Given the description of an element on the screen output the (x, y) to click on. 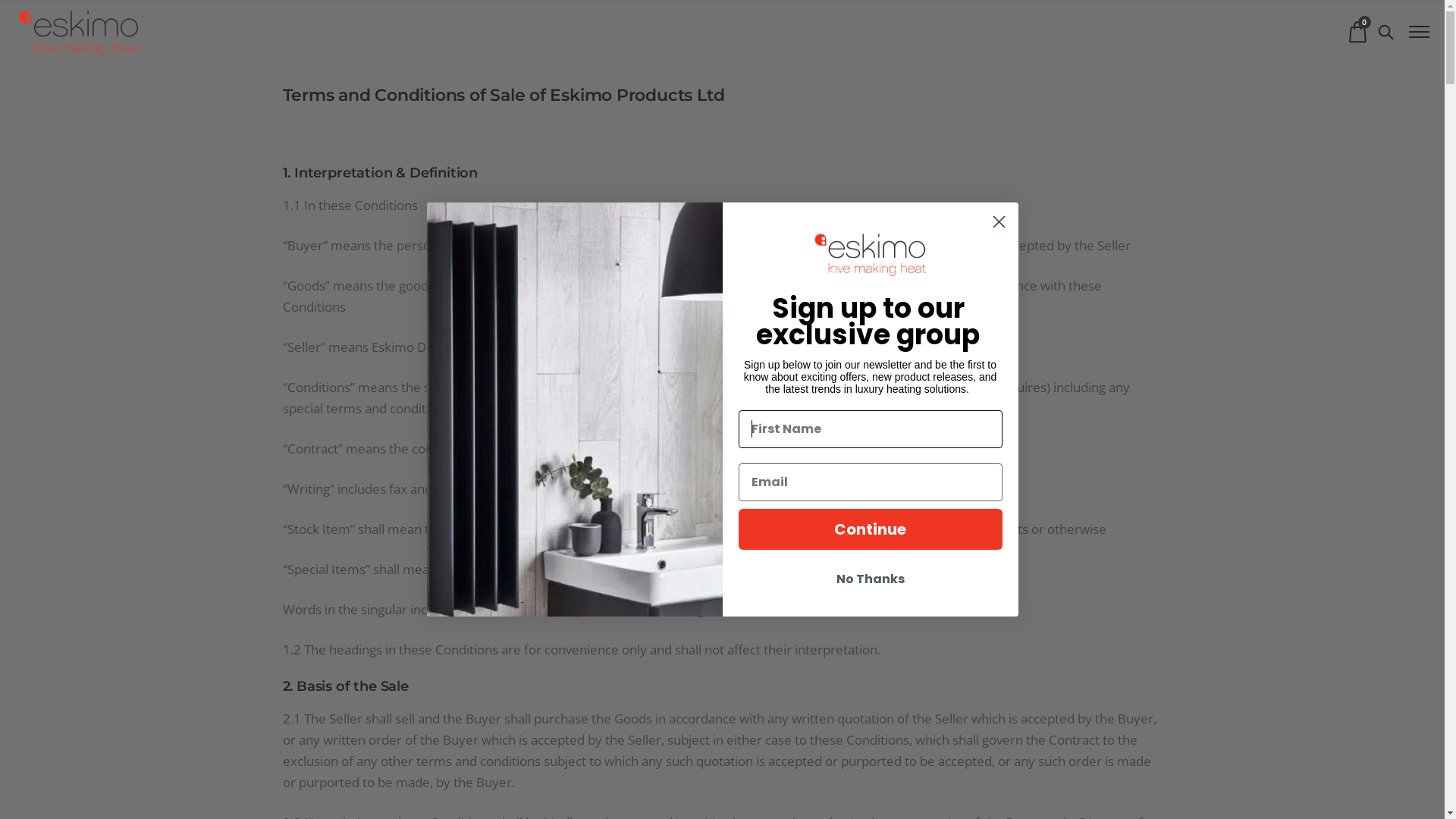
Submit Element type: text (47, 16)
No Thanks Element type: text (870, 578)
0 Element type: text (1357, 32)
Continue Element type: text (870, 528)
